Given the description of an element on the screen output the (x, y) to click on. 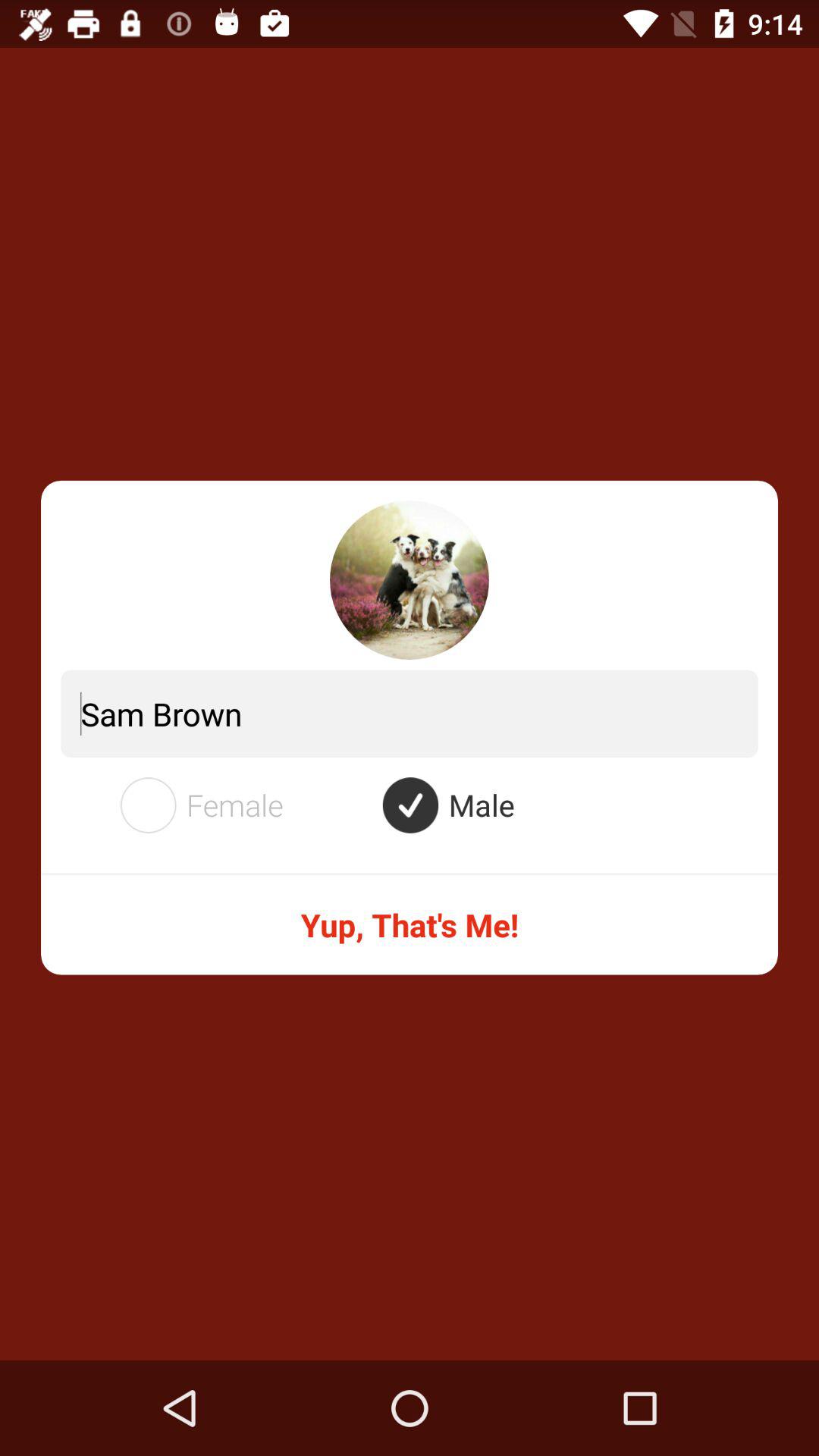
change profile picture (409, 579)
